Given the description of an element on the screen output the (x, y) to click on. 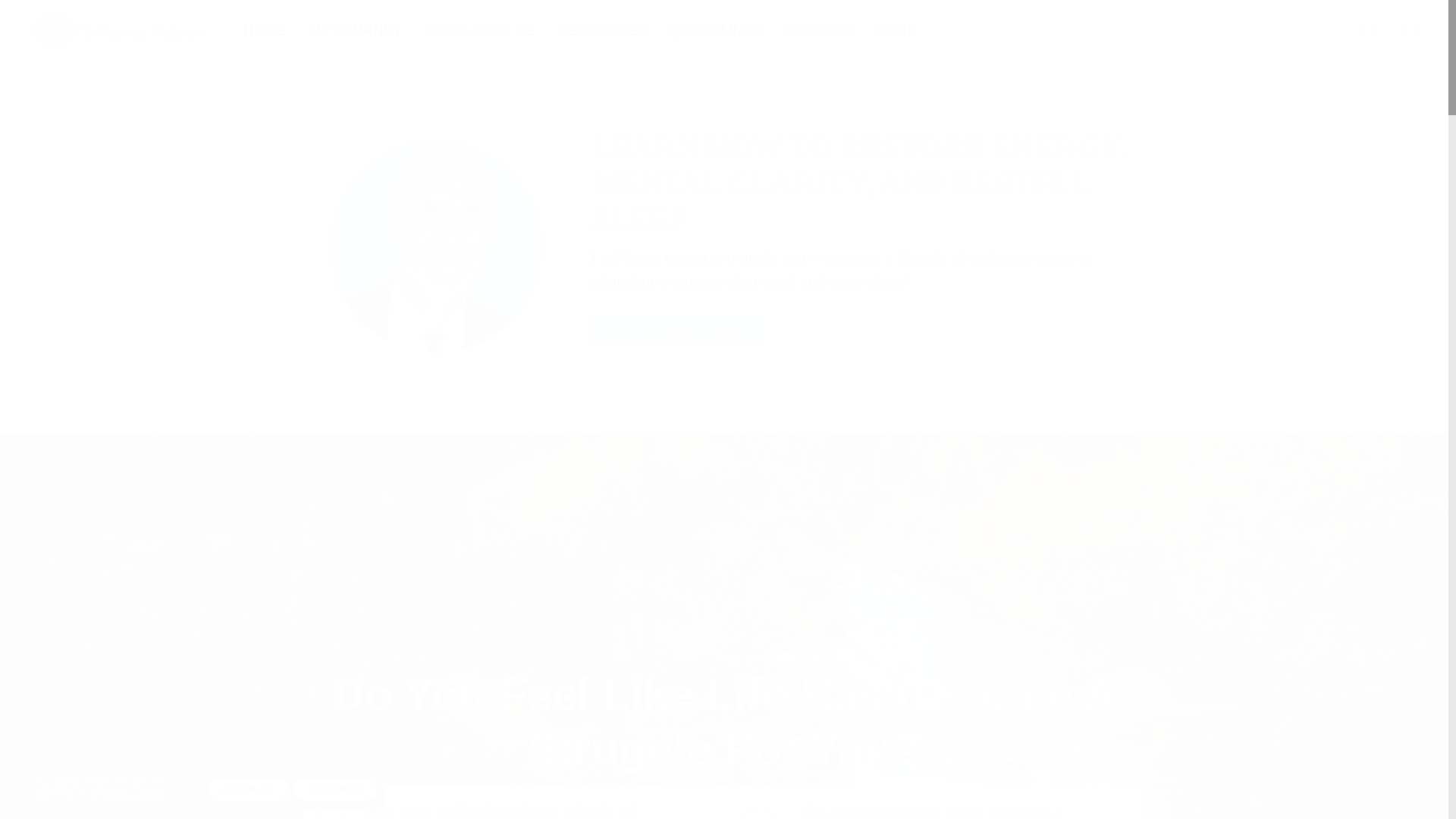
QUICK LINKS (716, 29)
CONTACT (819, 29)
RESOURCES (602, 29)
SHOP (896, 29)
privacy policy (133, 793)
MY JOURNEY (355, 29)
WORK WITH ME (480, 29)
CUSTOMIZE (334, 789)
HOME (264, 29)
GET STARTED NOW! (676, 331)
